Given the description of an element on the screen output the (x, y) to click on. 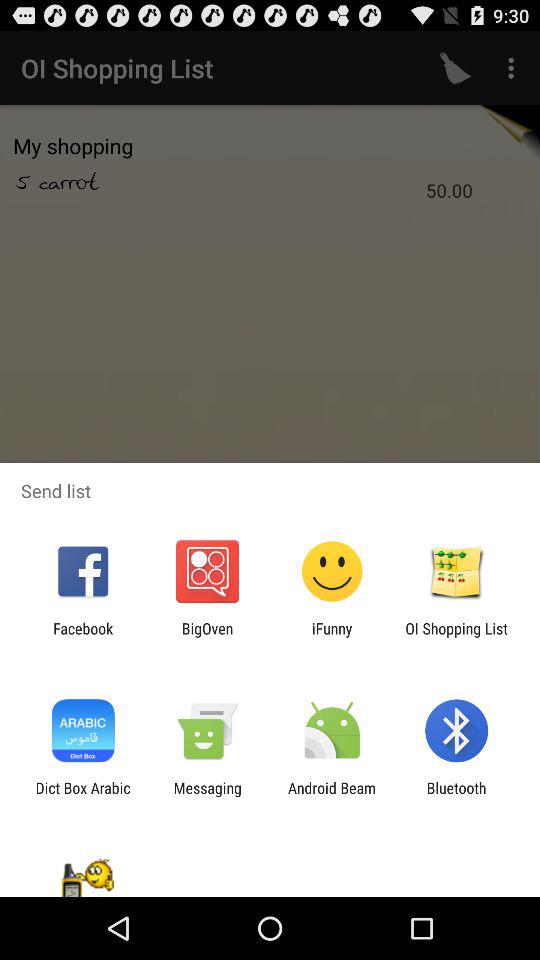
open app to the left of bigoven item (83, 637)
